Given the description of an element on the screen output the (x, y) to click on. 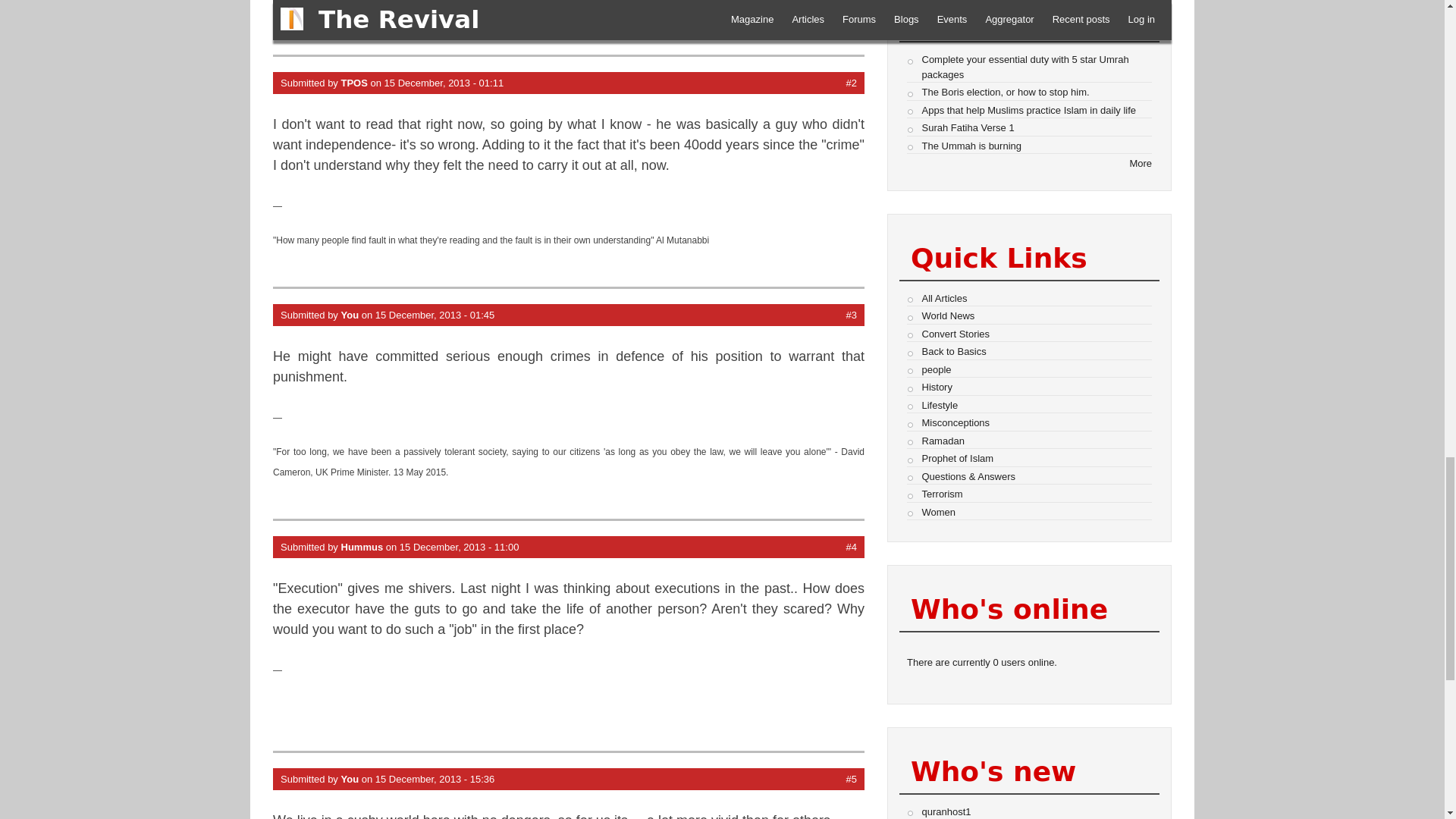
TPOS (354, 82)
You (349, 315)
Hummus (362, 546)
View user profile. (354, 82)
View user profile. (362, 546)
View user profile. (349, 778)
View user profile. (349, 315)
You (349, 778)
